Given the description of an element on the screen output the (x, y) to click on. 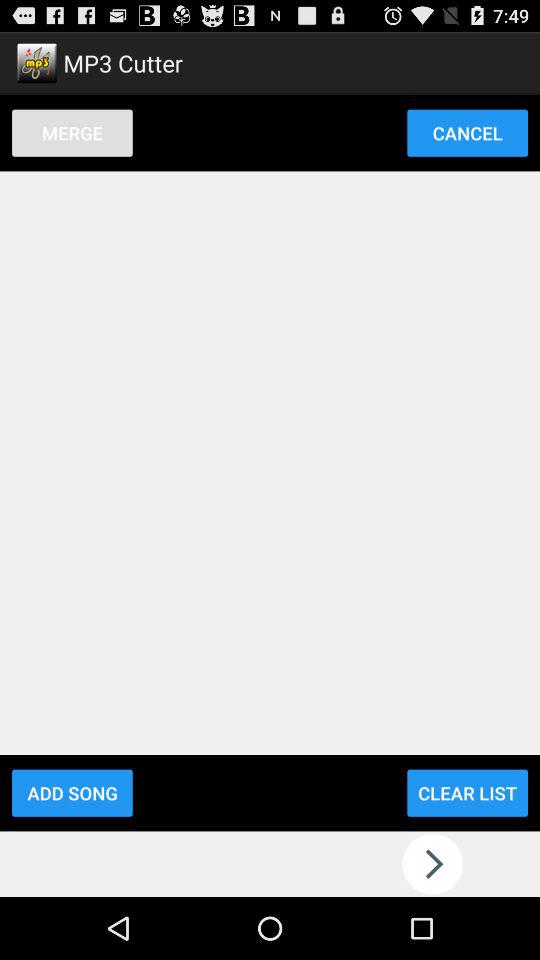
turn off the item below add song button (270, 863)
